Given the description of an element on the screen output the (x, y) to click on. 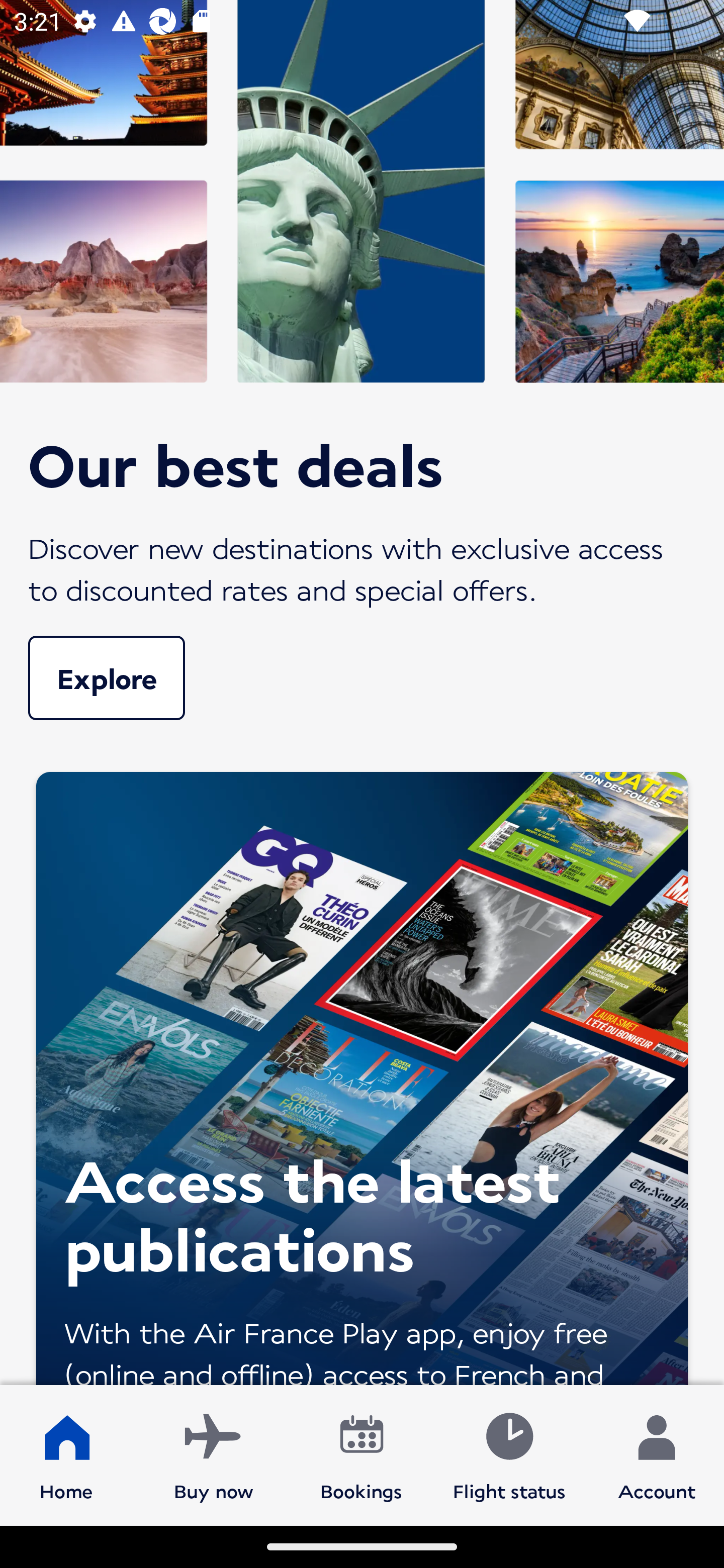
Buy now (213, 1454)
Bookings (361, 1454)
Flight status (509, 1454)
Account (657, 1454)
